Given the description of an element on the screen output the (x, y) to click on. 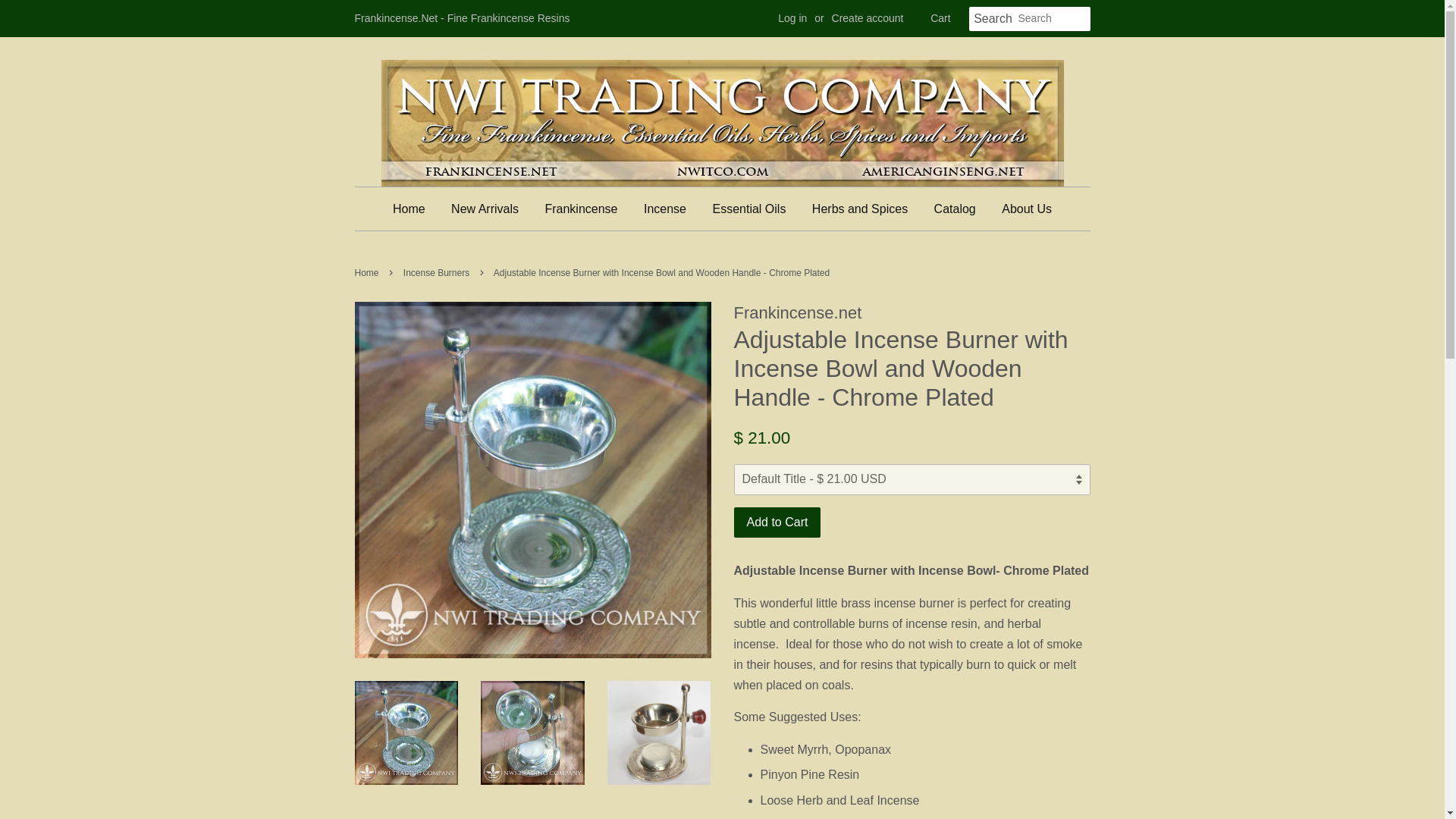
Create account (867, 18)
Home (414, 208)
Back to the frontpage (368, 272)
Search (993, 18)
Log in (791, 18)
Cart (940, 18)
